Given the description of an element on the screen output the (x, y) to click on. 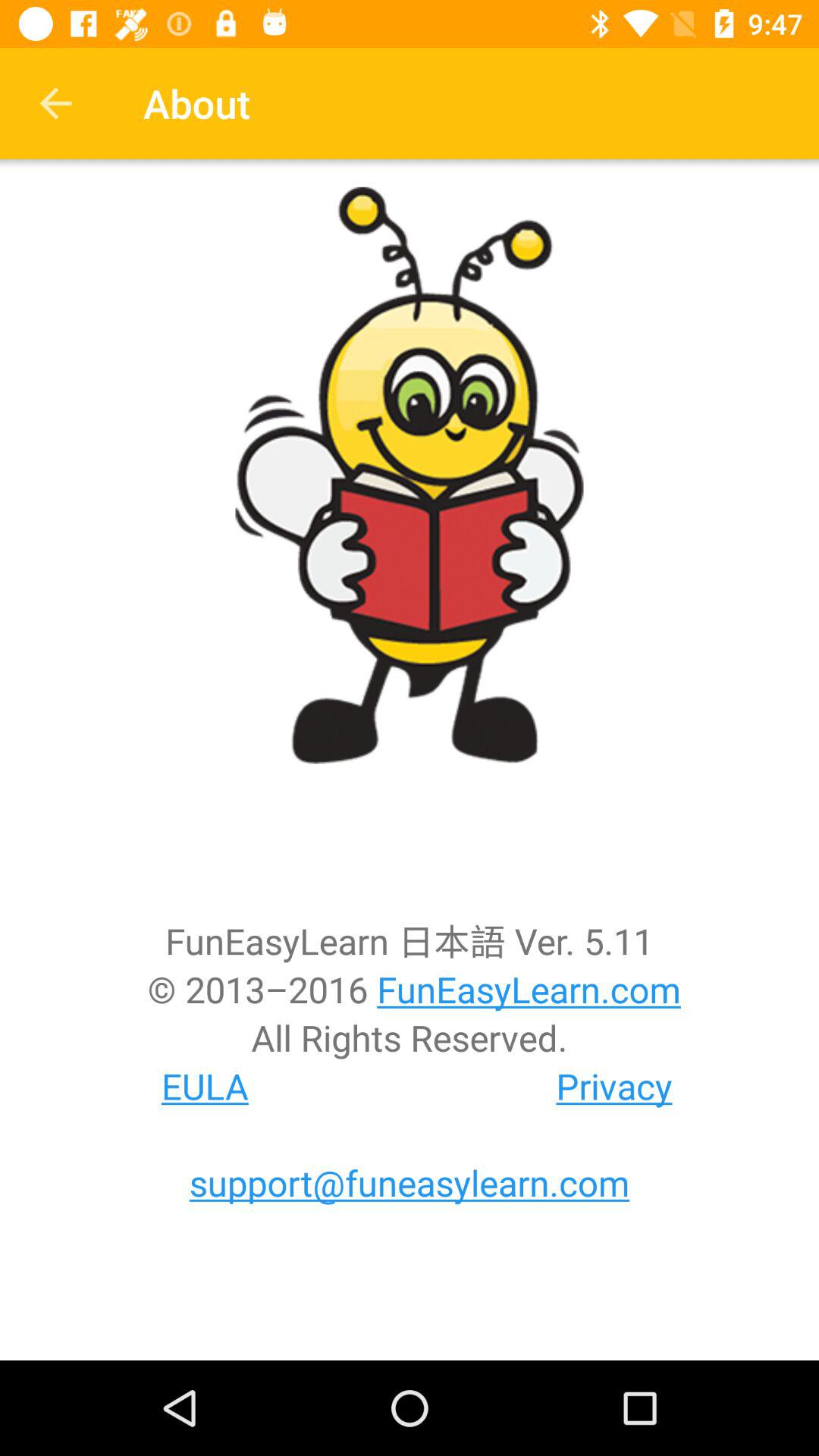
jump to the eula (204, 1085)
